Given the description of an element on the screen output the (x, y) to click on. 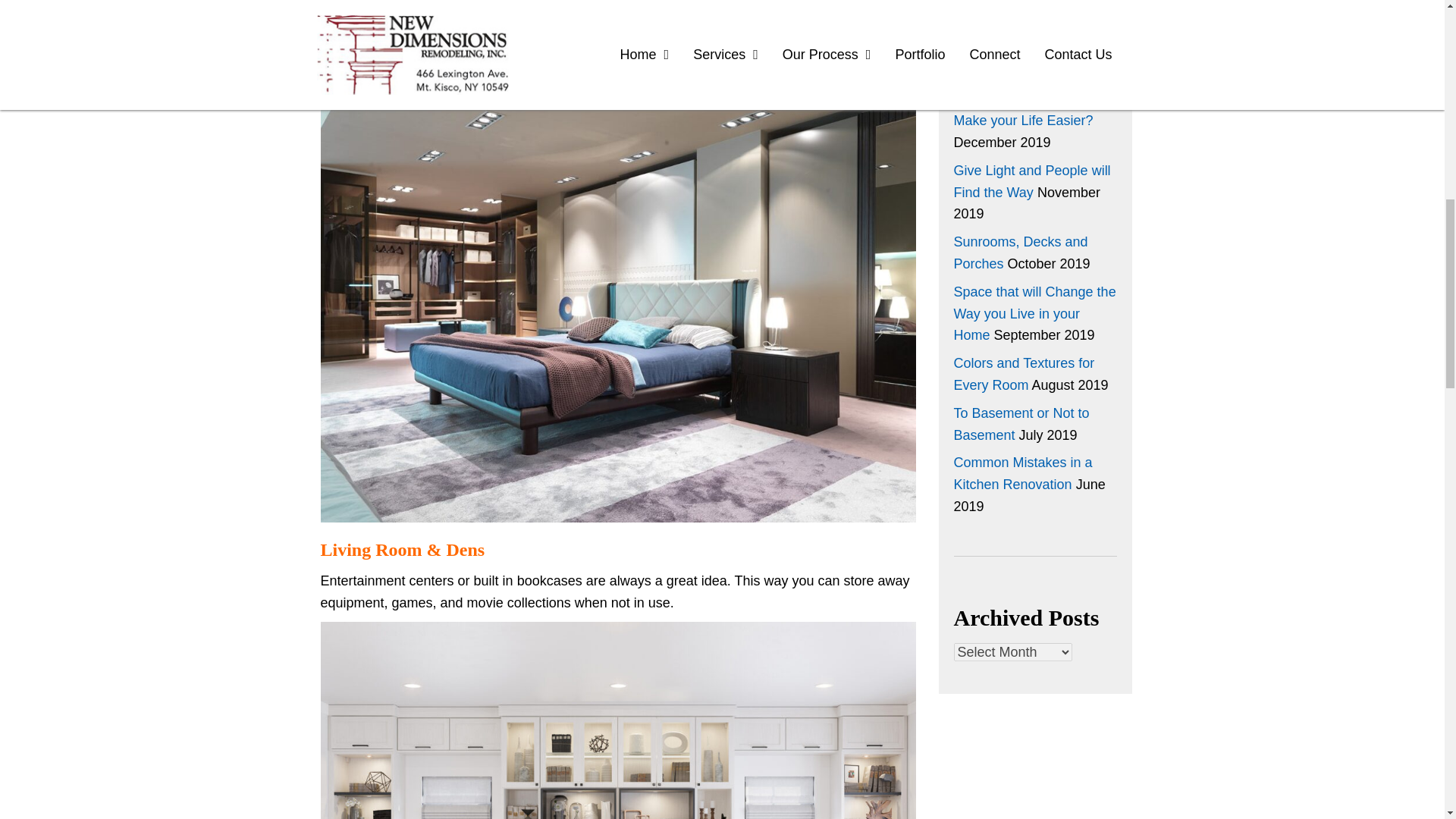
Kitchens, Kitchens, Kitchens (1011, 3)
The Most Important Rooms to Renovate in your Home (1021, 48)
Give Light and People will Find the Way (1031, 180)
Sunrooms, Decks and Porches (1020, 252)
Will Home Renovation Make your Life Easier? (1023, 108)
Space that will Change the Way you Live in your Home (1034, 313)
